Given the description of an element on the screen output the (x, y) to click on. 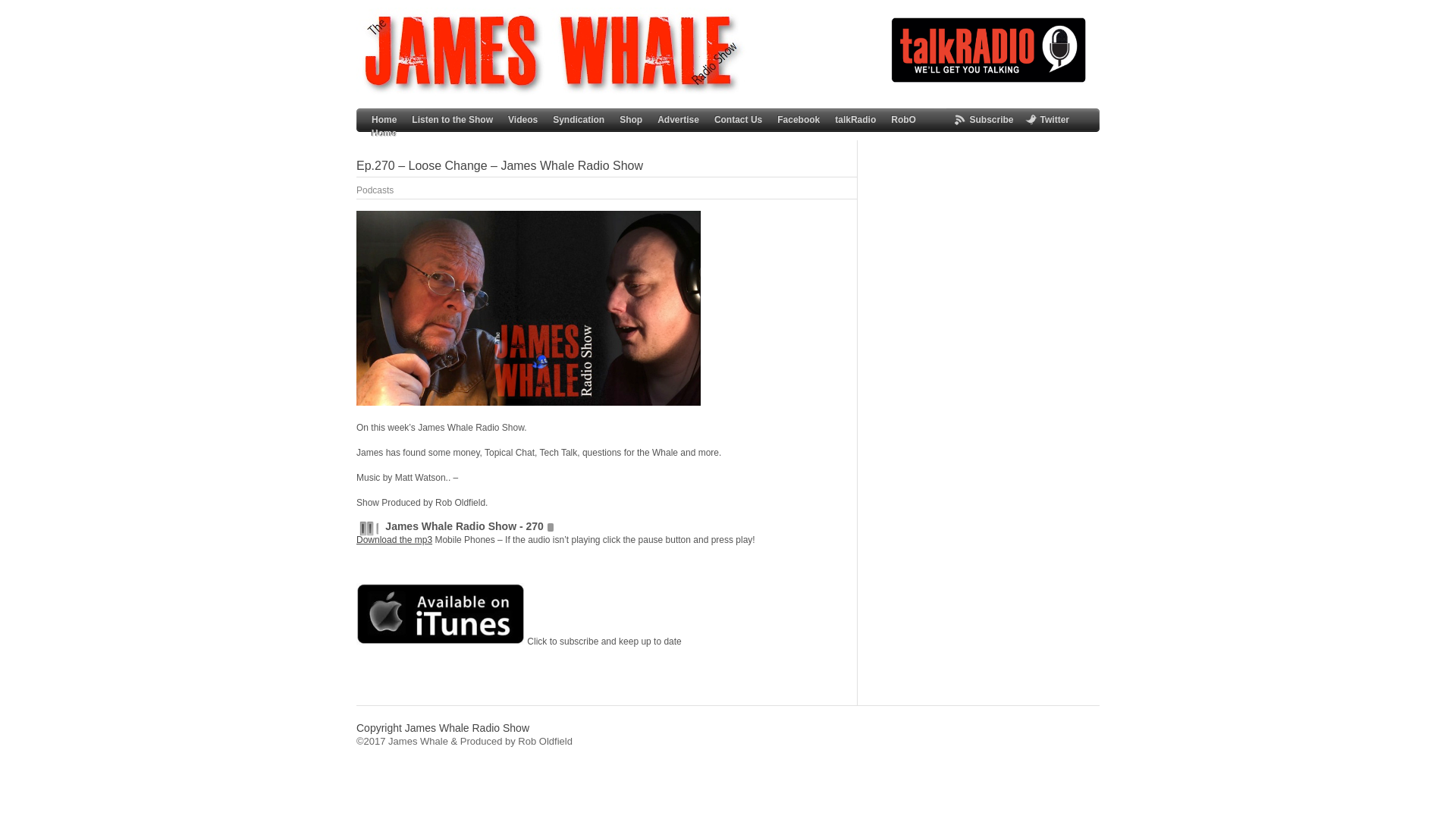
Contact Us (737, 119)
Shop (631, 119)
Advertise (678, 119)
Home (383, 119)
Twitter (1054, 119)
Home (383, 133)
Subscribe (991, 119)
RobO (903, 119)
James Whale Radio Show (551, 93)
Rob Oldfield (545, 740)
Subscribe (991, 119)
Videos (522, 119)
Twitter (1054, 119)
Listen to the Show (452, 119)
Facebook (798, 119)
